Given the description of an element on the screen output the (x, y) to click on. 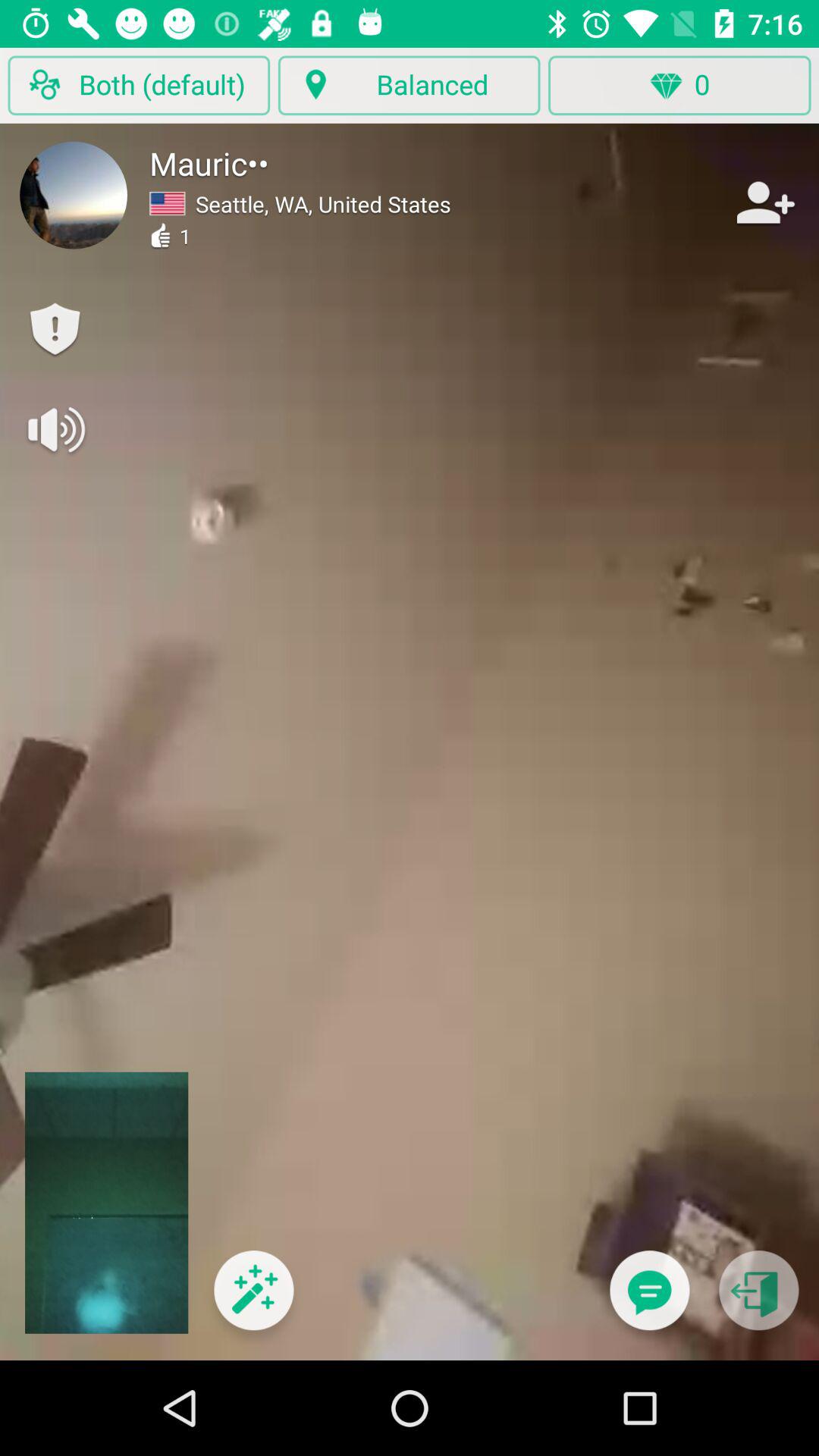
mute audio (55, 429)
